Given the description of an element on the screen output the (x, y) to click on. 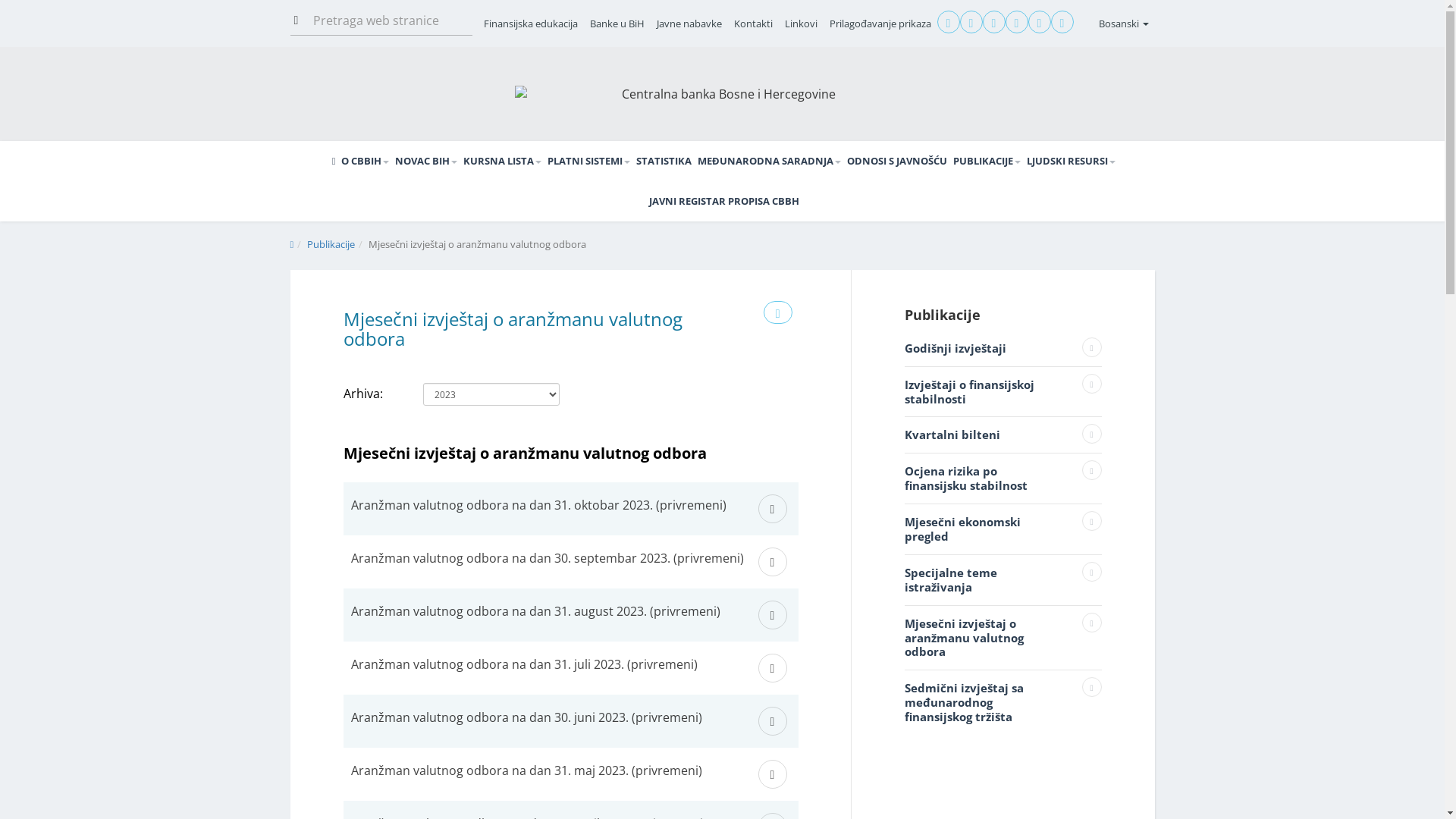
PLATNI SISTEMI Element type: text (588, 161)
KURSNA LISTA Element type: text (502, 161)
STATISTIKA Element type: text (663, 161)
JAVNI REGISTAR PROPISA CBBH Element type: text (723, 201)
Ocjena rizika po finansijsku stabilnost Element type: text (1002, 477)
NOVAC BIH Element type: text (425, 161)
Kvartalni bilteni Element type: text (1002, 434)
LJUDSKI RESURSI Element type: text (1071, 161)
O CBBIH Element type: text (364, 161)
Publikacije Element type: text (330, 244)
Kontakti Element type: text (753, 23)
Javne nabavke Element type: text (689, 23)
Linkovi Element type: text (800, 23)
Banke u BiH Element type: text (616, 23)
PUBLIKACIJE Element type: text (986, 161)
Finansijska edukacija Element type: text (530, 23)
Bosanski Element type: text (1123, 23)
